Given the description of an element on the screen output the (x, y) to click on. 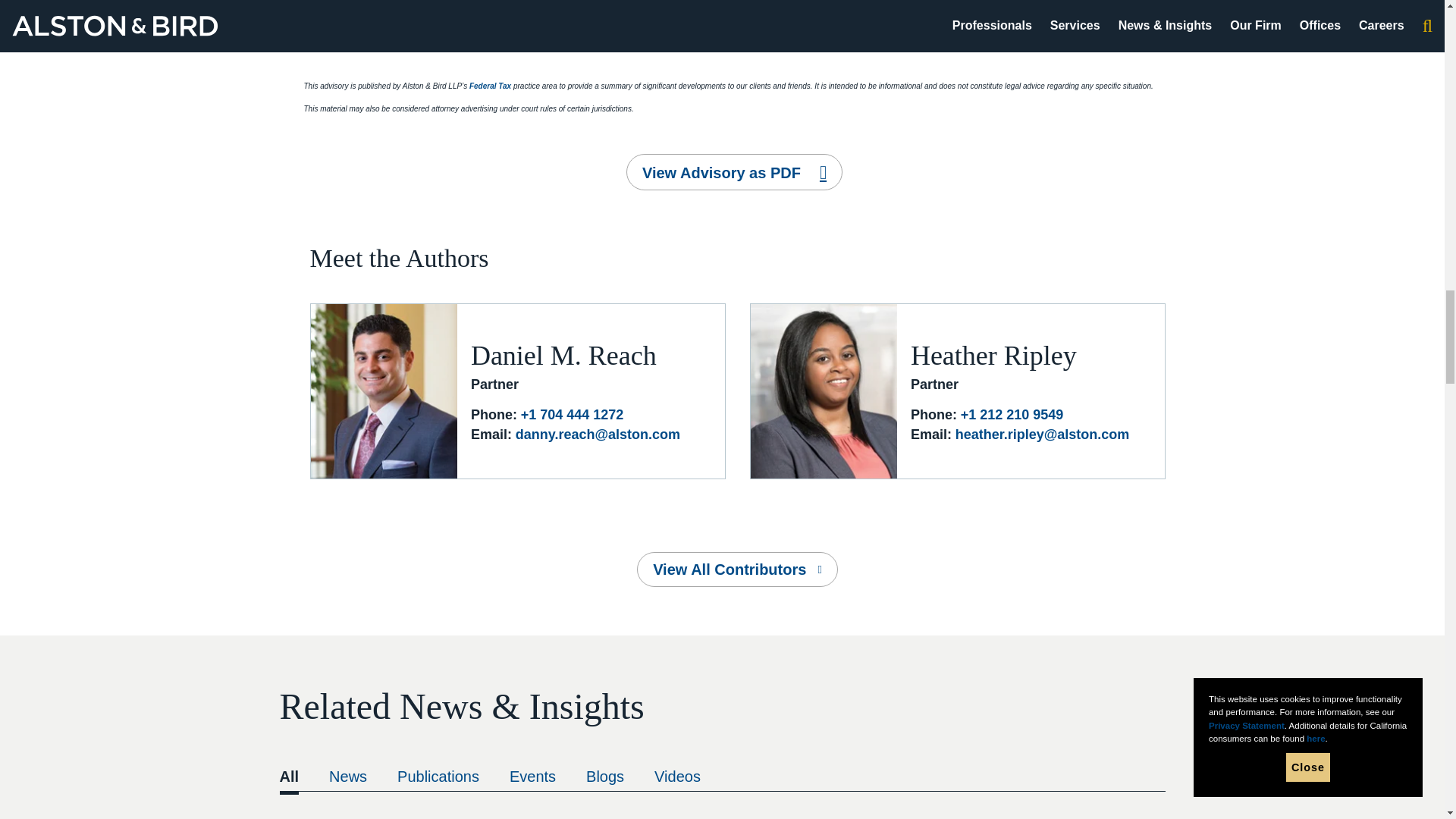
View Advisory as PDF (734, 171)
Federal Tax (489, 85)
Daniel M. Reach (563, 355)
